Given the description of an element on the screen output the (x, y) to click on. 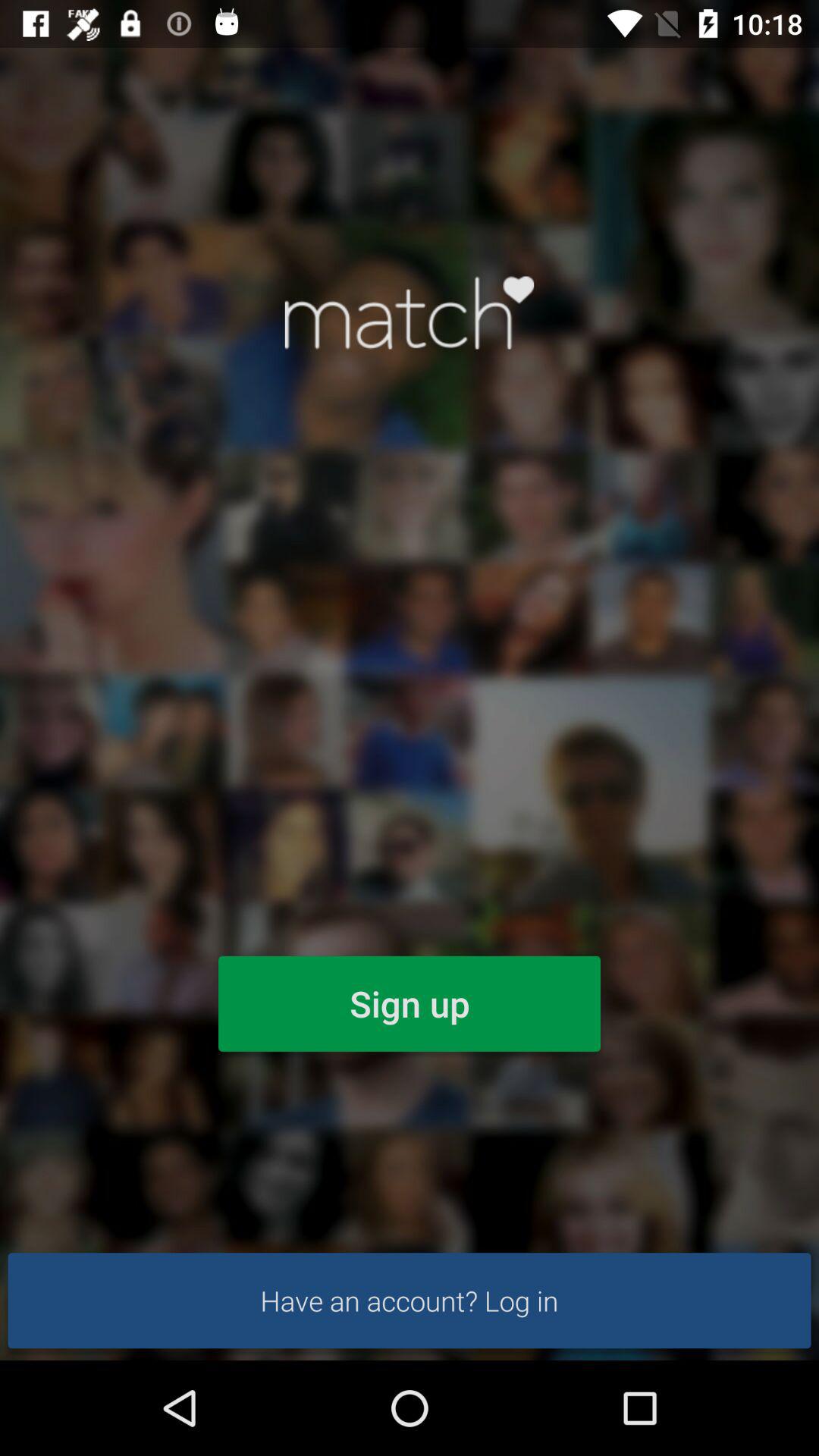
like button (409, 312)
